Given the description of an element on the screen output the (x, y) to click on. 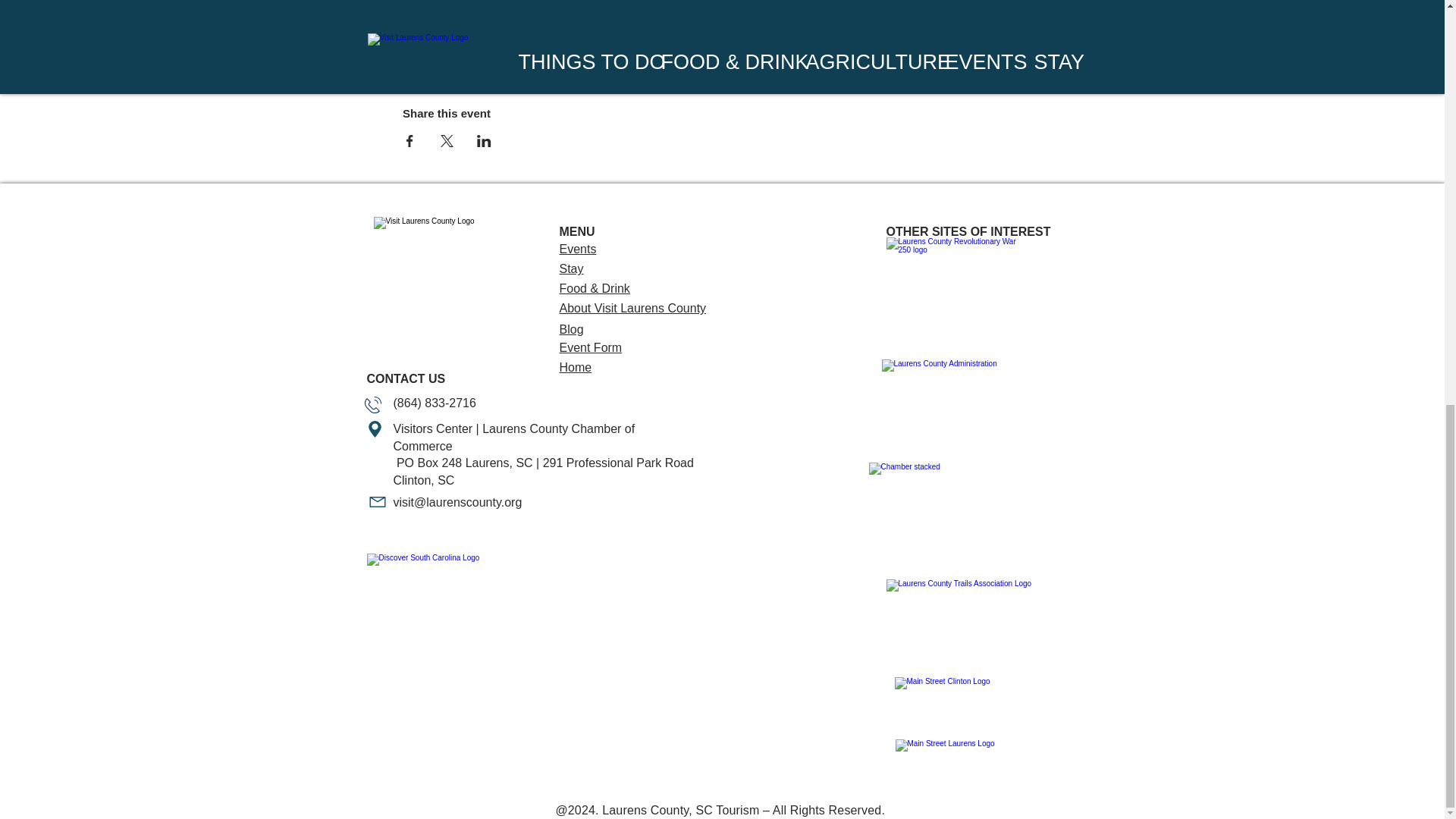
About Visit Laurens County (632, 308)
Home (575, 367)
County.png (951, 404)
Stay (571, 268)
County.png (953, 515)
Events (577, 248)
Blog (571, 328)
Event Form (591, 347)
